Given the description of an element on the screen output the (x, y) to click on. 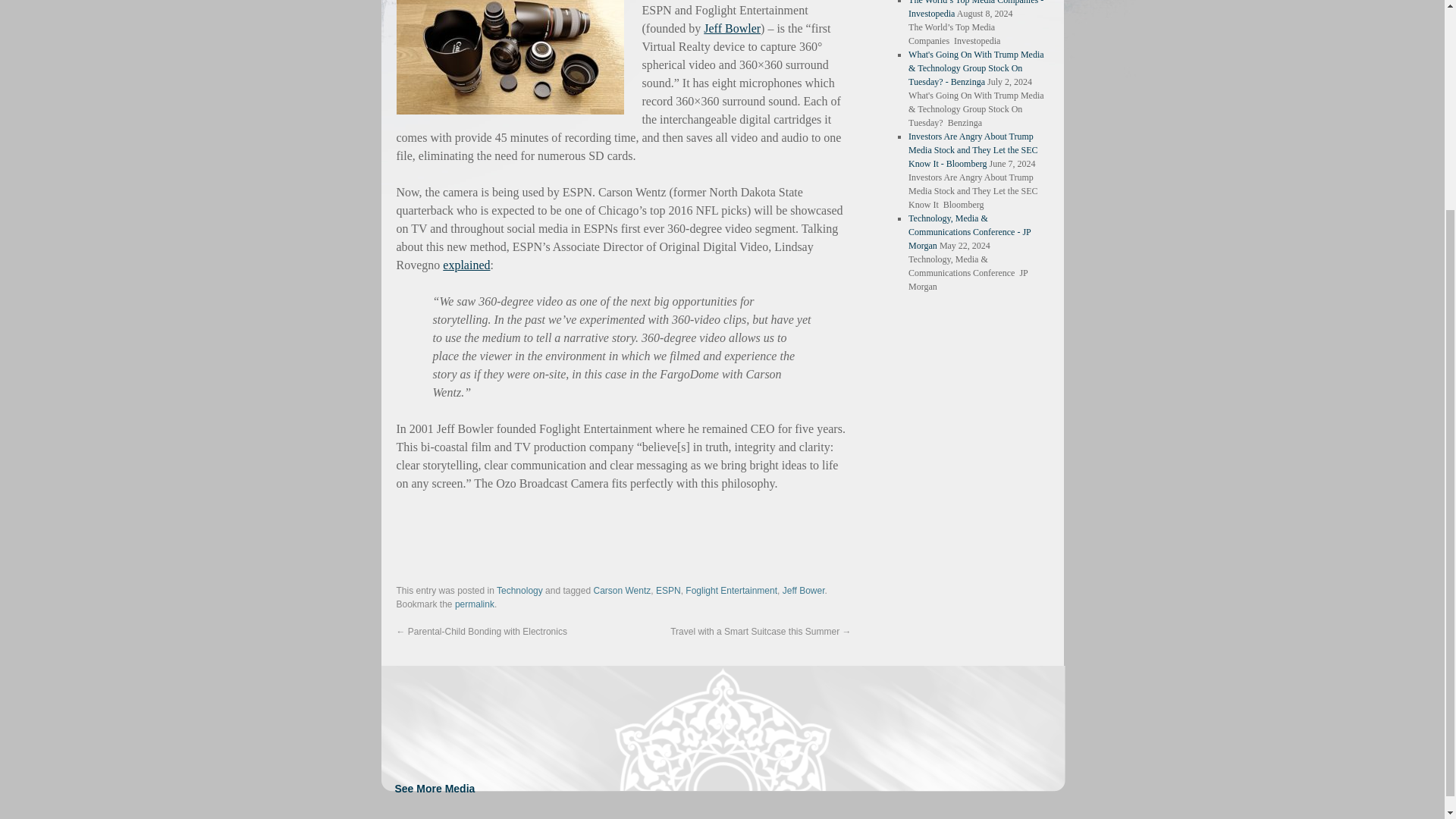
ESPN (668, 589)
permalink (474, 603)
Foglight Entertainment (731, 589)
Jeff Bower (804, 589)
Carson Wentz (621, 589)
Technology (519, 589)
Jeff Bowler (731, 28)
See More Media (434, 787)
See More Media (434, 787)
